Given the description of an element on the screen output the (x, y) to click on. 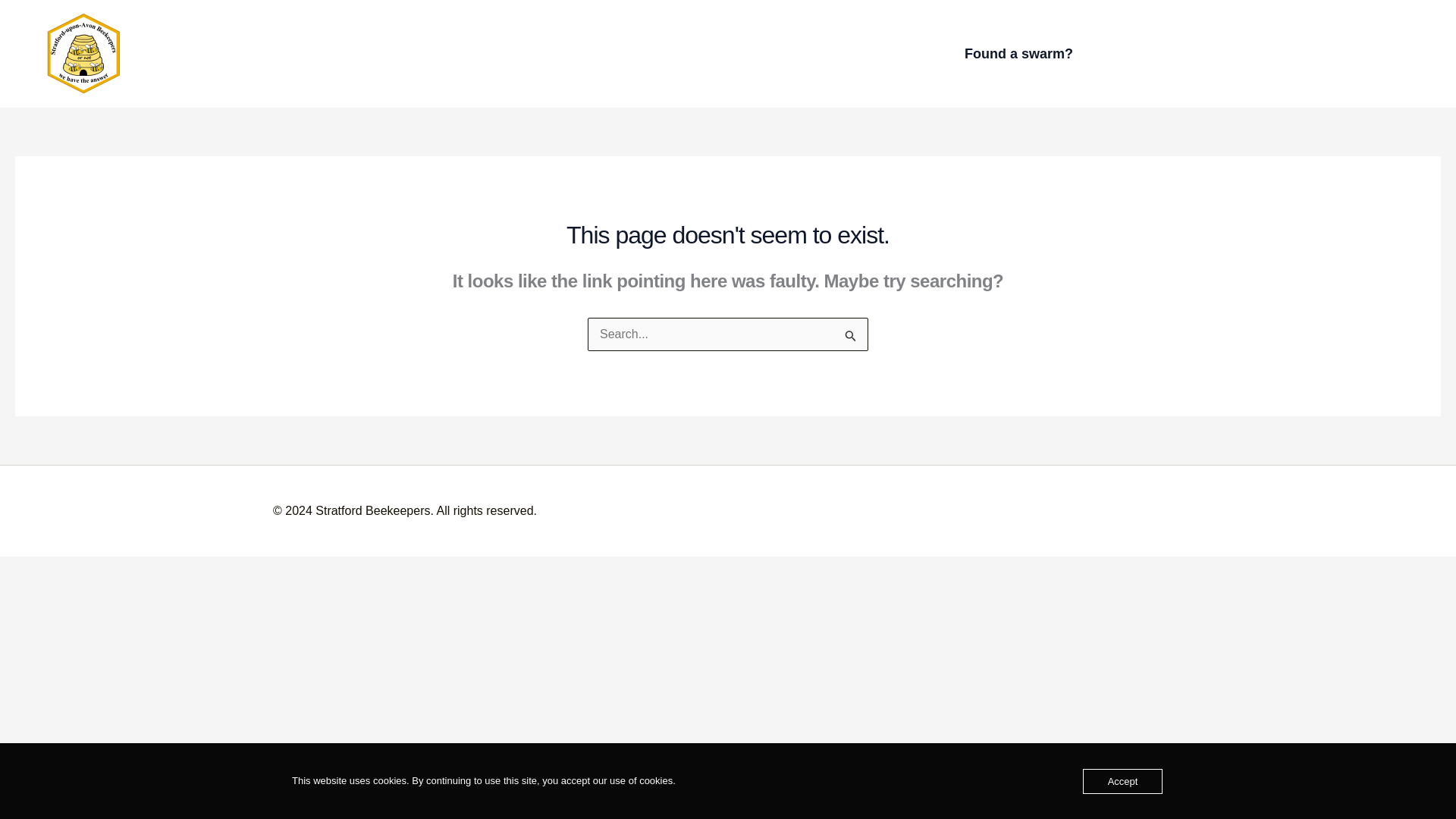
Membership (703, 53)
Courses (618, 53)
Accept (1123, 781)
Found a swarm? (1018, 53)
Contact us (887, 53)
About Us (797, 53)
